Given the description of an element on the screen output the (x, y) to click on. 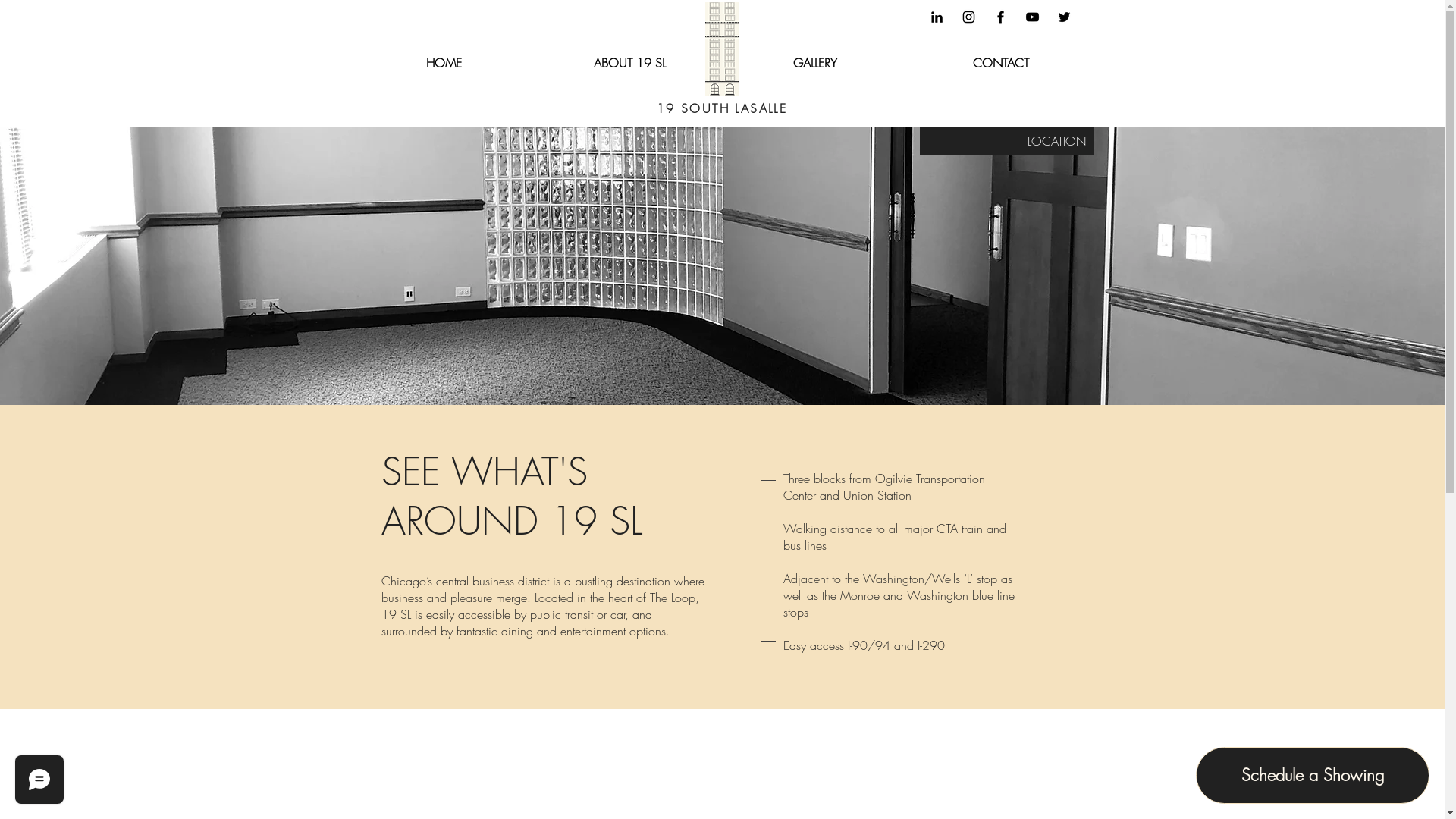
HOME Element type: text (443, 62)
ABOUT 19 SL Element type: text (629, 62)
19 SOUTH LASALLE Element type: text (721, 108)
GALLERY Element type: text (814, 62)
Schedule a Showing Element type: text (1312, 774)
CONTACT Element type: text (1001, 62)
